Given the description of an element on the screen output the (x, y) to click on. 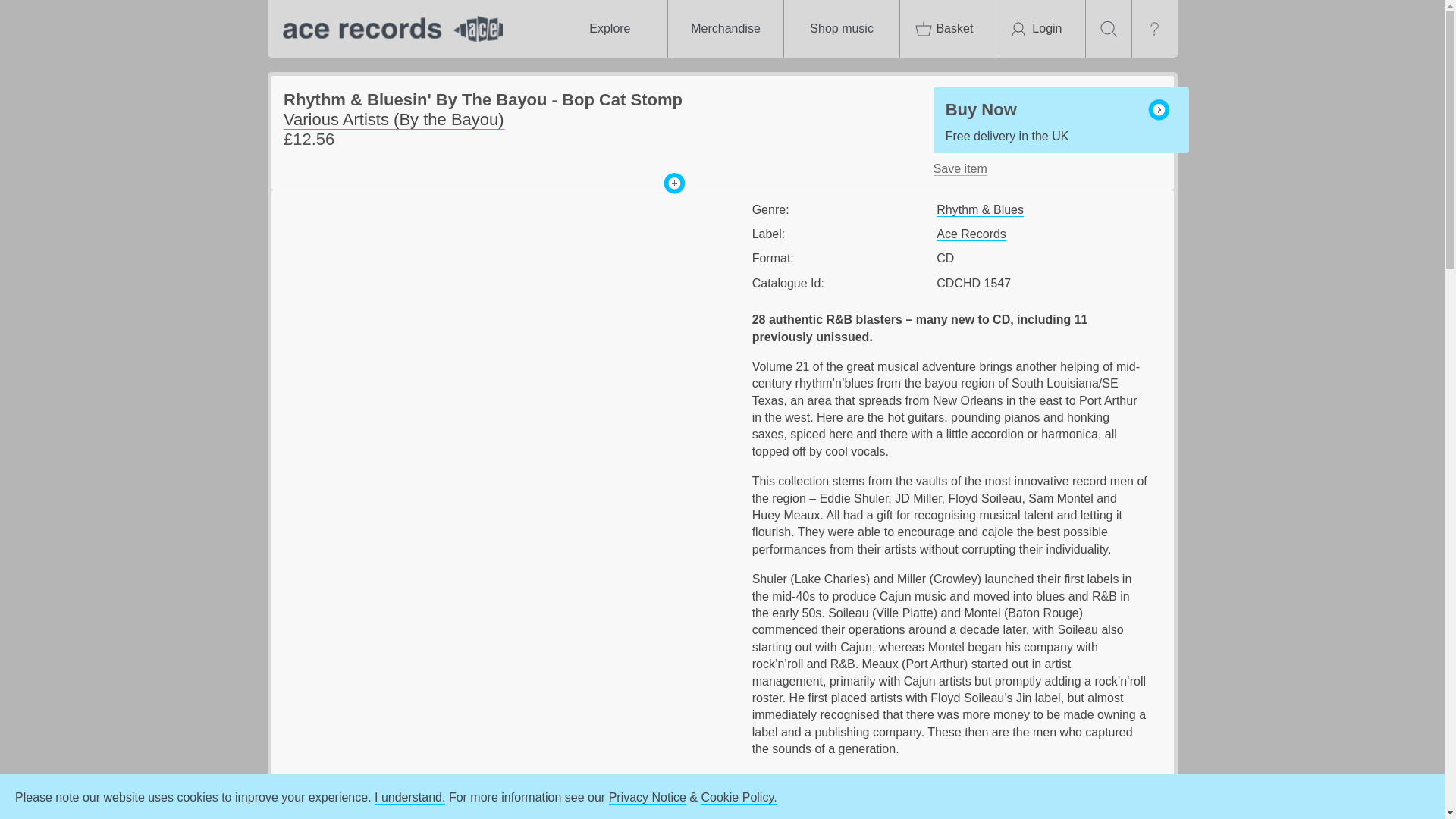
Ace Records (971, 233)
Ace Records (388, 28)
Login (1039, 28)
Basket (947, 28)
Merchandise (725, 28)
Explore (609, 28)
Save item (960, 169)
Shop music (841, 28)
